Given the description of an element on the screen output the (x, y) to click on. 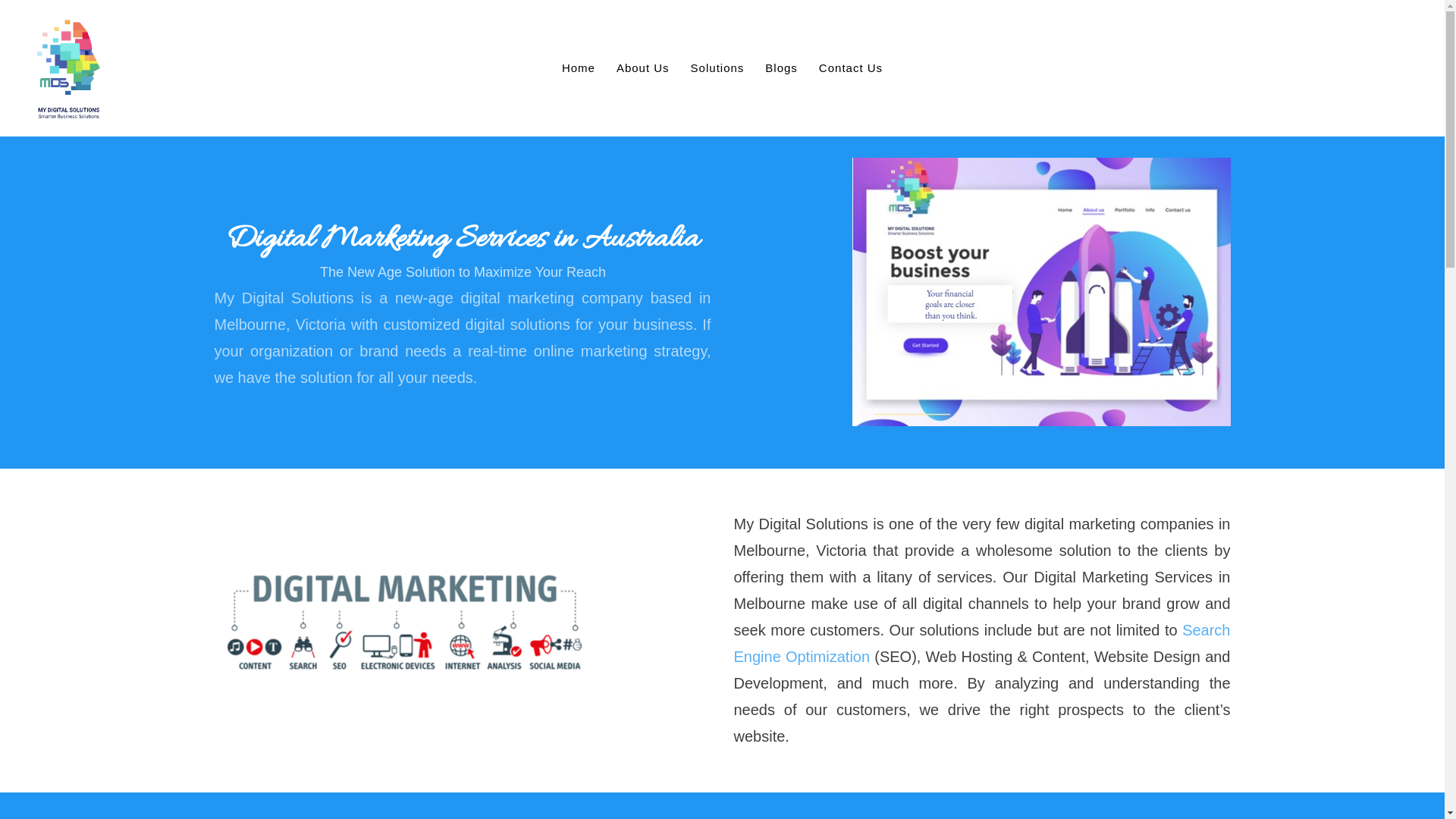
Search Engine Optimization Element type: text (982, 643)
Blogs Element type: text (781, 68)
Contact Us Element type: text (850, 68)
About Us Element type: text (642, 68)
Solutions Element type: text (717, 68)
My Digital Solutions Element type: hover (68, 68)
Home Element type: text (578, 68)
